Given the description of an element on the screen output the (x, y) to click on. 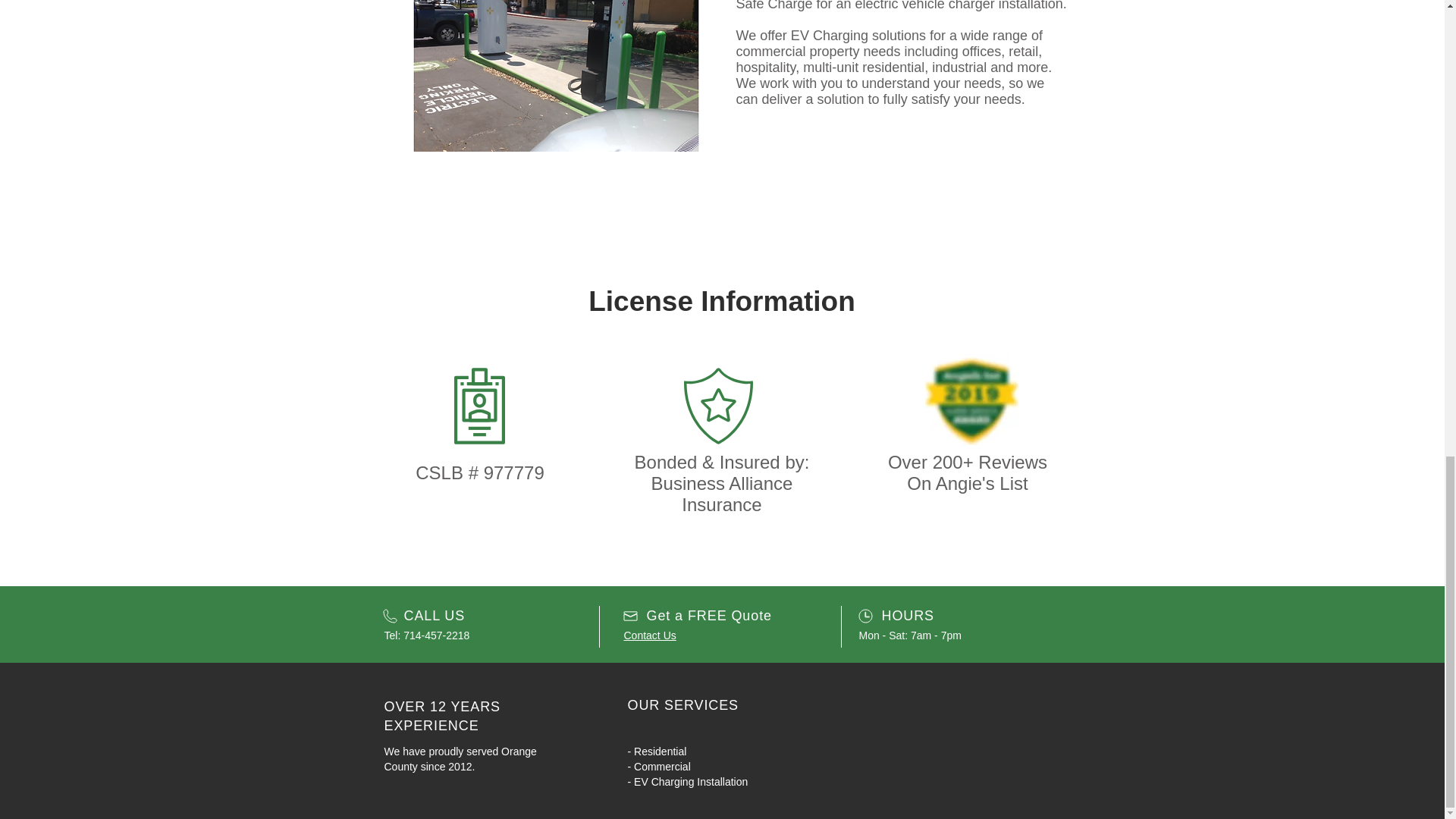
EV Charging Installation  (692, 781)
Residential (659, 751)
Commercial (661, 766)
Contact Us (649, 635)
